Given the description of an element on the screen output the (x, y) to click on. 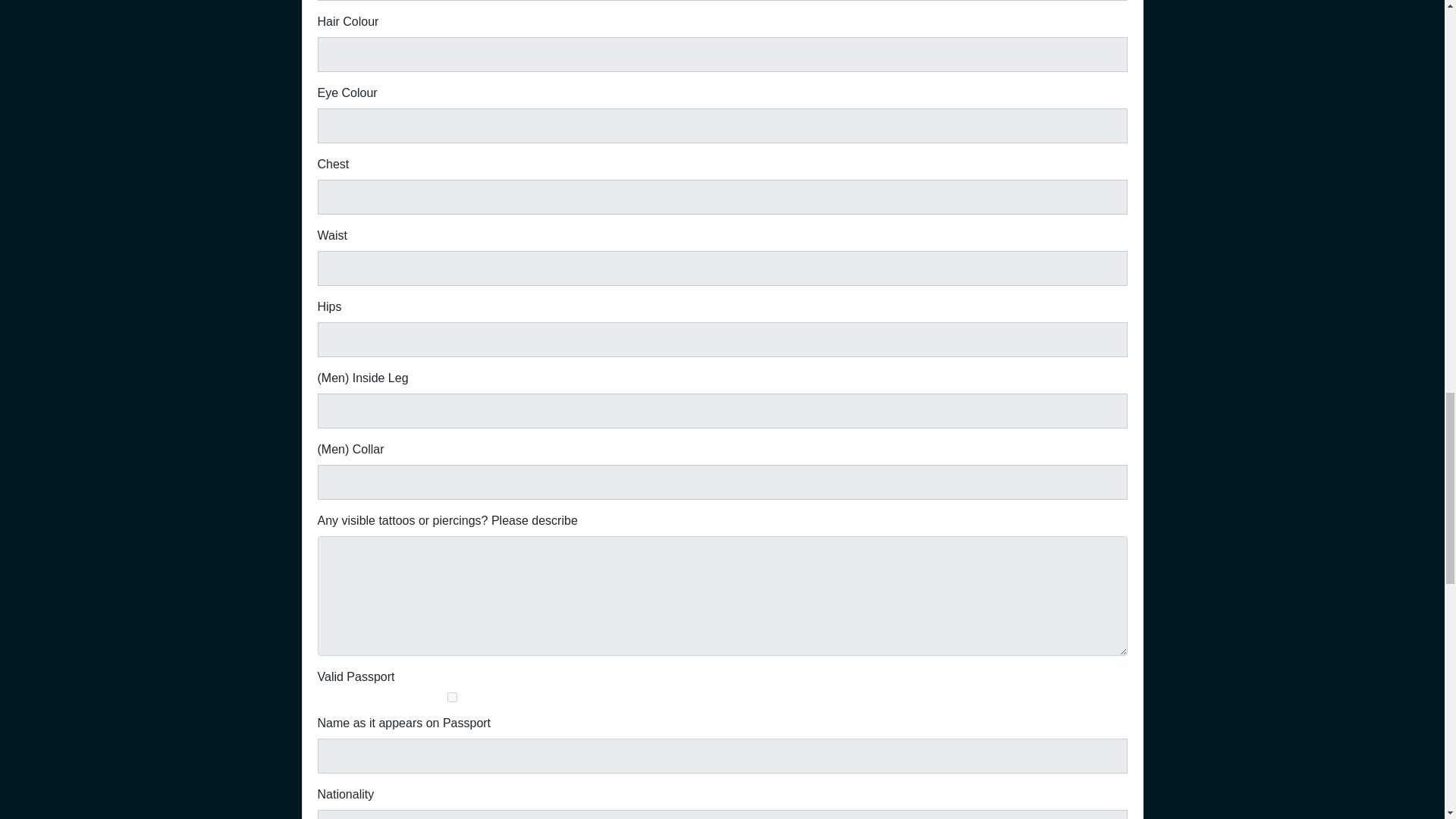
on (452, 696)
